Given the description of an element on the screen output the (x, y) to click on. 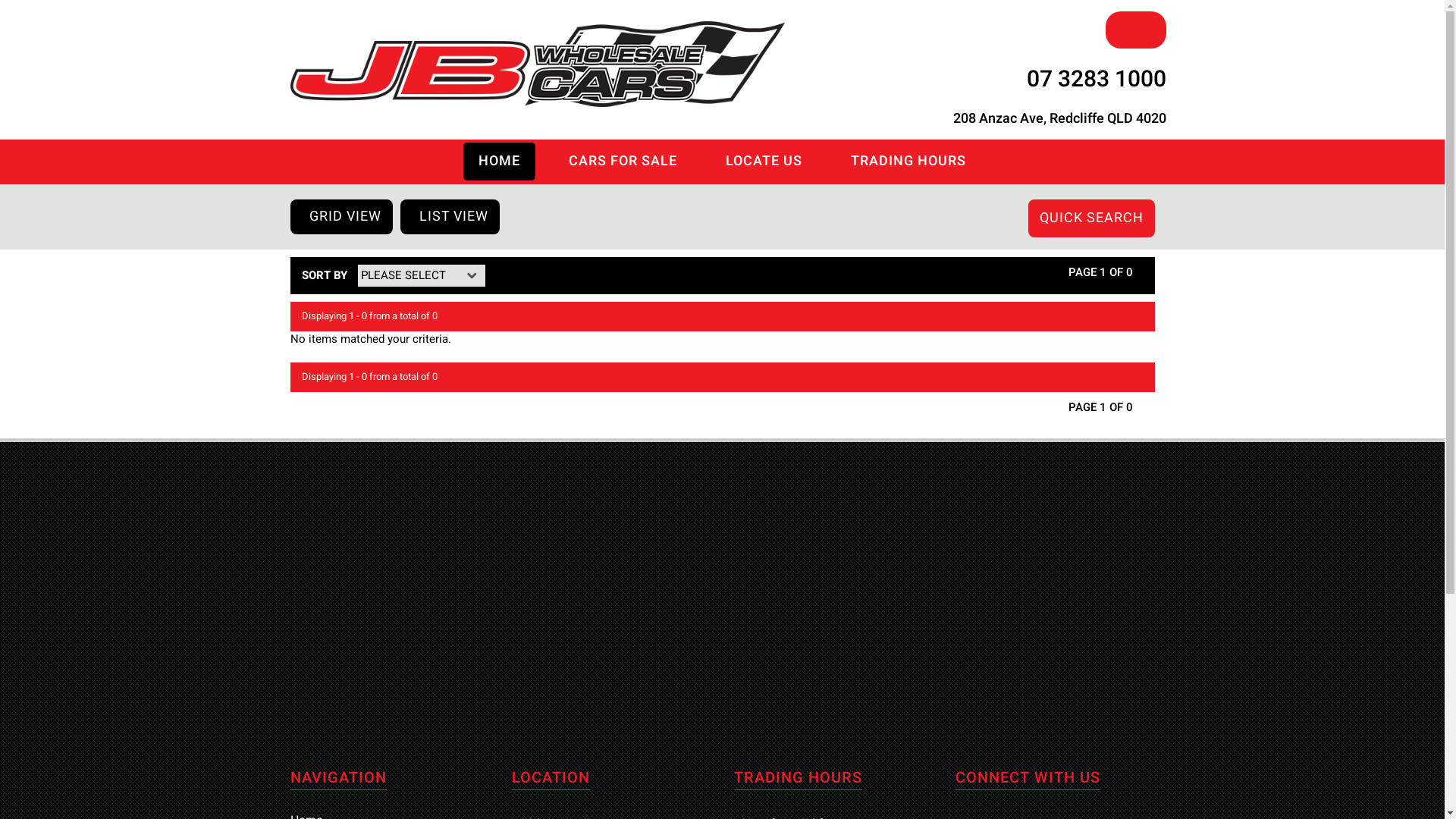
CARS FOR SALE Element type: text (622, 161)
HOME Element type: text (499, 161)
LIST VIEW Element type: text (449, 216)
GRID VIEW Element type: text (340, 216)
TRADING HOURS Element type: text (908, 161)
LOCATE US Element type: text (763, 161)
208 Anzac Ave, Redcliffe QLD 4020 Element type: text (1058, 118)
07 3283 1000 Element type: text (1096, 79)
QUICK SEARCH Element type: text (1091, 218)
